Given the description of an element on the screen output the (x, y) to click on. 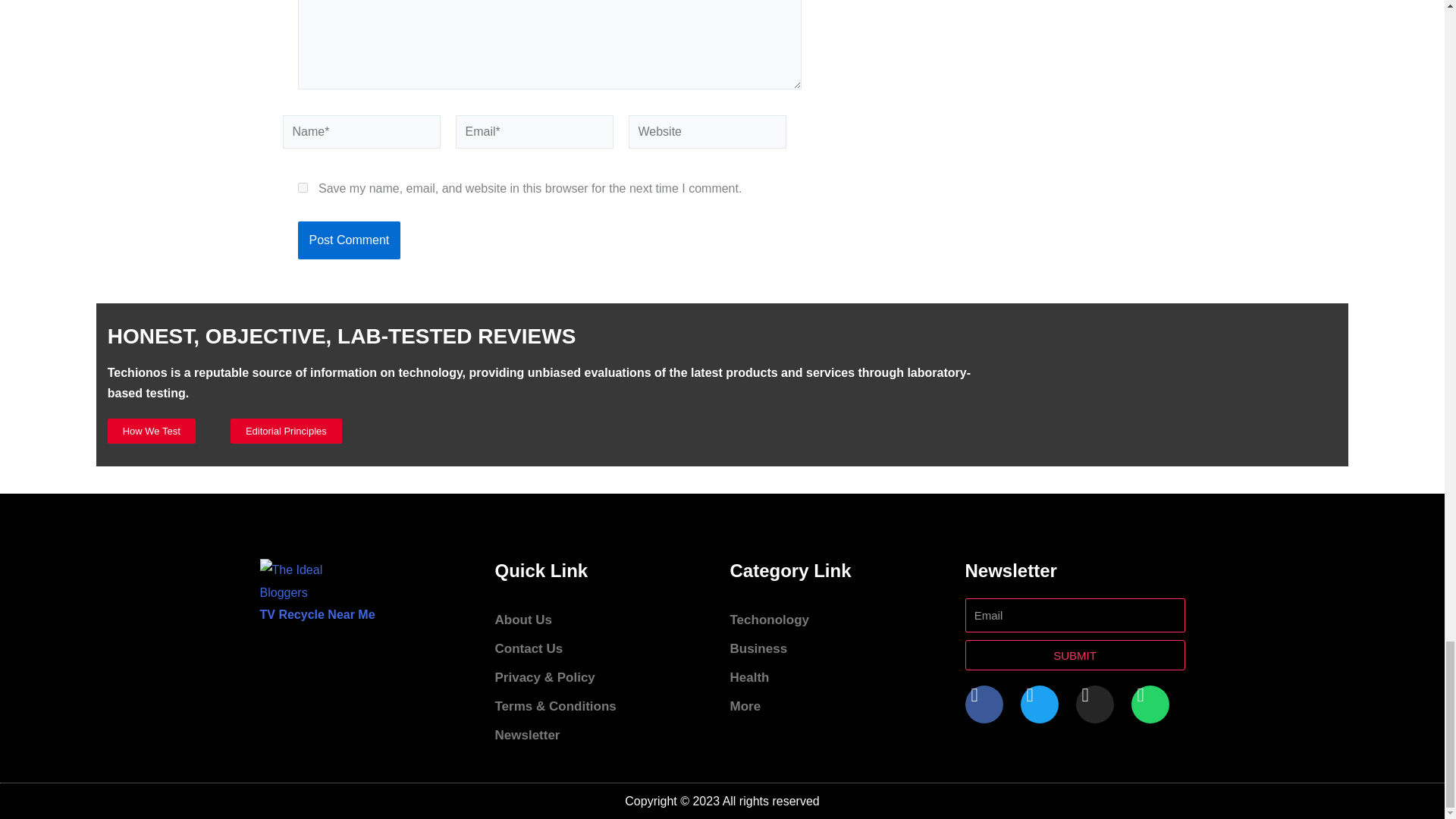
yes (302, 187)
The Ideal Bloggers (299, 580)
Post Comment (348, 240)
